Given the description of an element on the screen output the (x, y) to click on. 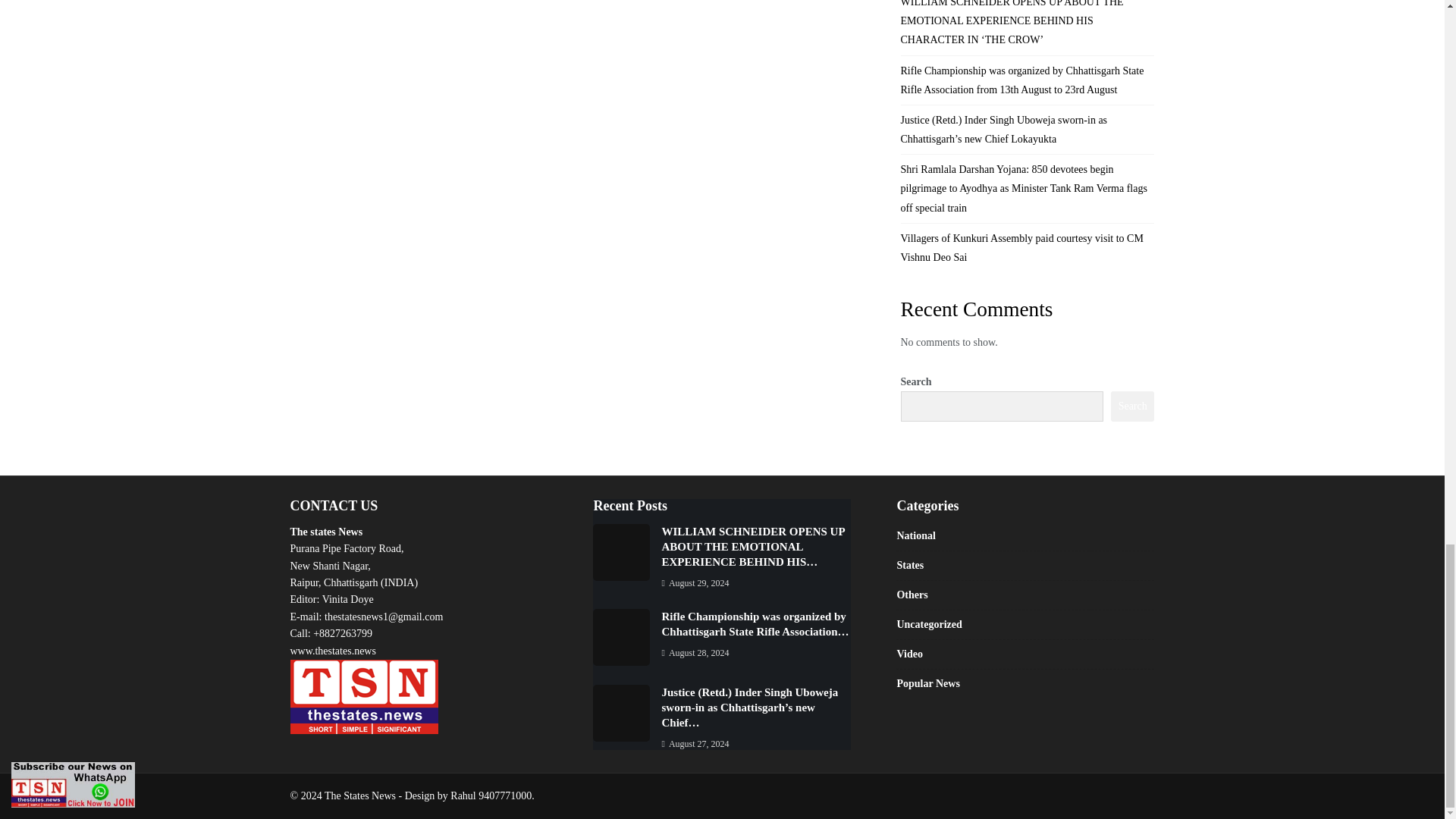
rahul (490, 795)
